Given the description of an element on the screen output the (x, y) to click on. 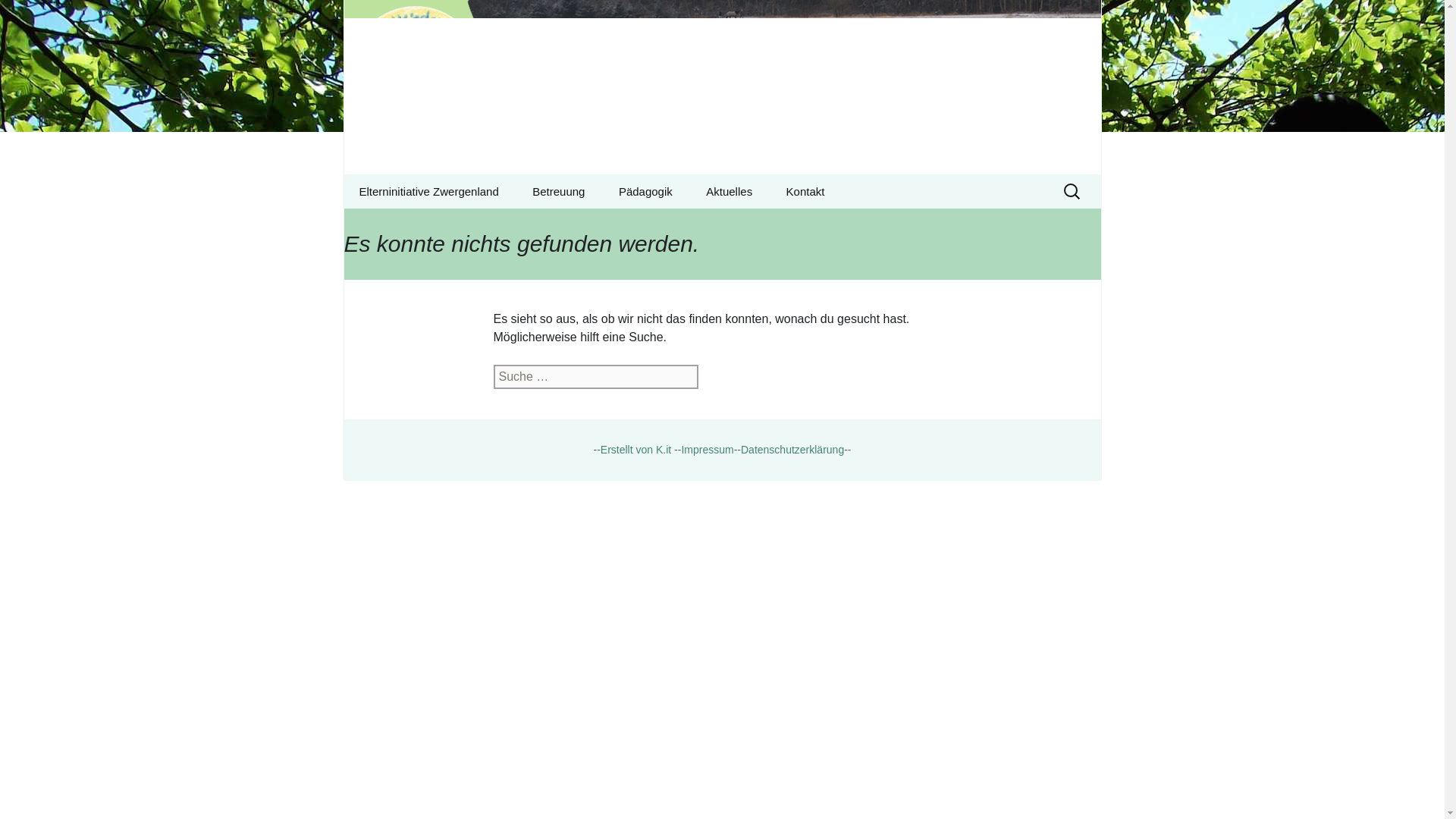
Elterninitiative Zwergenland (721, 87)
Suche (428, 191)
Aktuelles (34, 15)
Grundlagen (728, 191)
Der Verein (679, 225)
Erstellt von K.it (419, 225)
Suche (635, 449)
Das Team (18, 15)
Betreuung (592, 225)
Pressemitteilungen (557, 191)
Kontakt (766, 225)
Impressum (805, 191)
Zum Inhalt springen (707, 449)
